Given the description of an element on the screen output the (x, y) to click on. 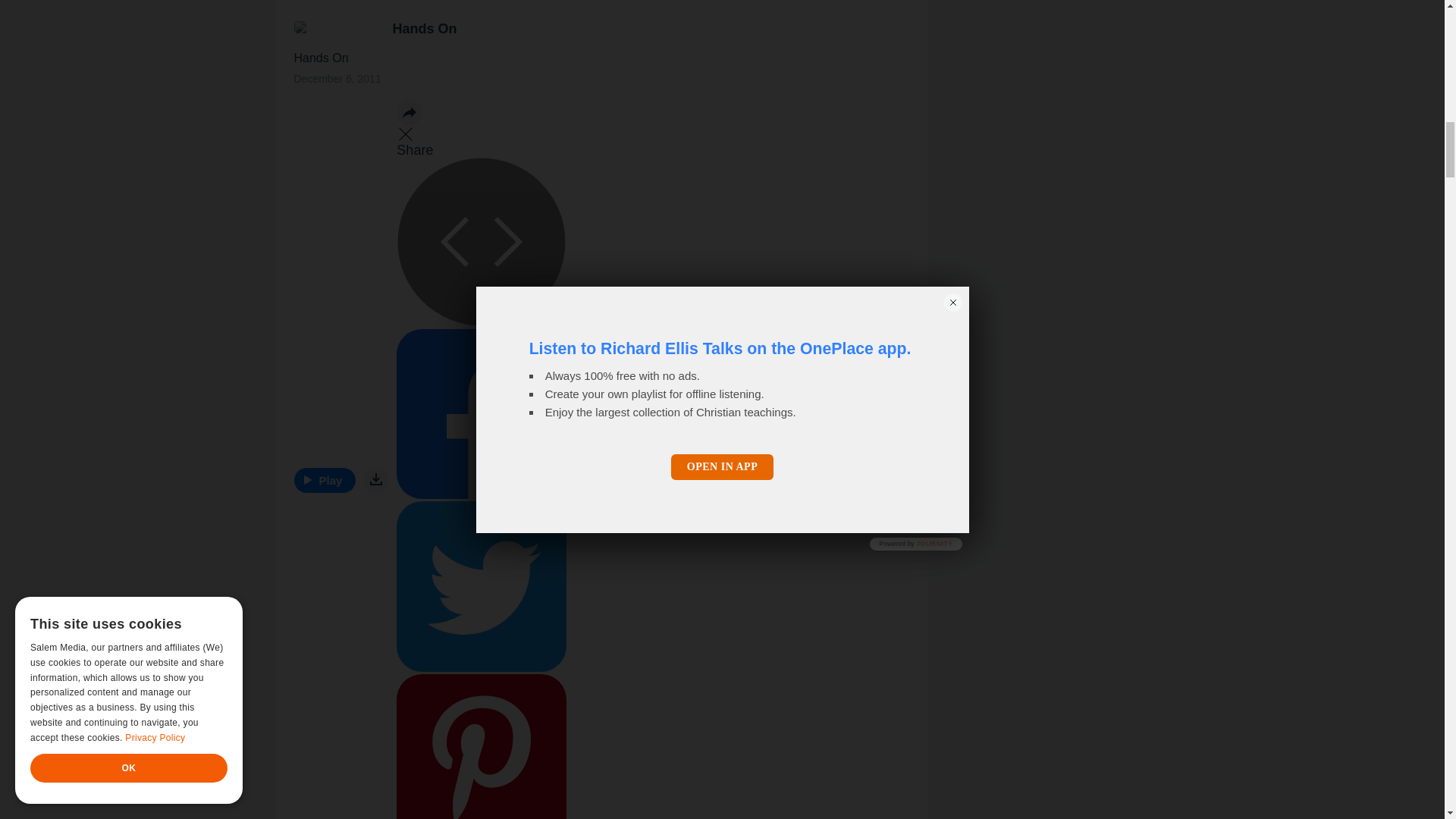
Play (325, 480)
Hands On (425, 28)
